Given the description of an element on the screen output the (x, y) to click on. 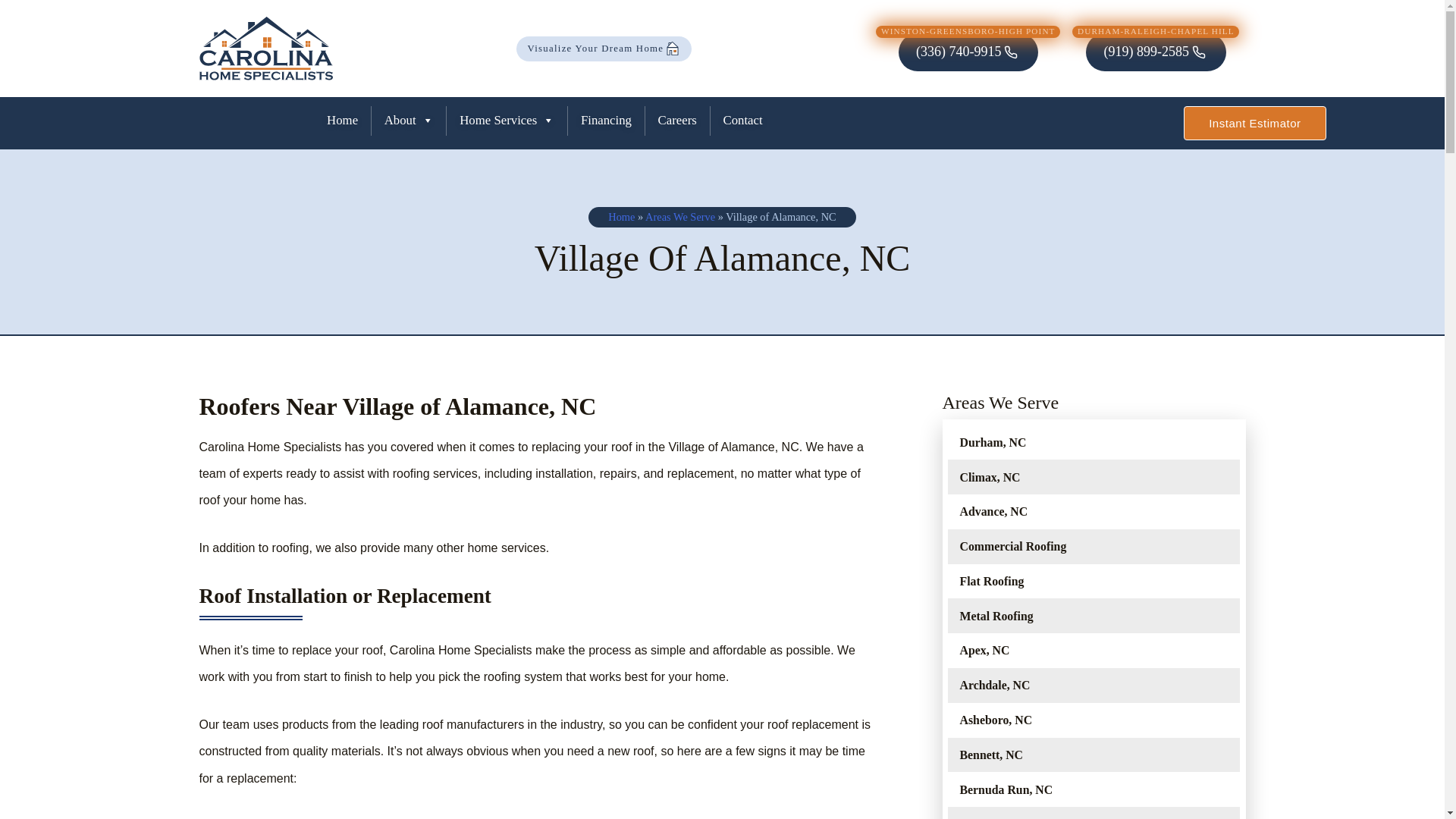
Climax, NC (1093, 476)
About (408, 120)
Commercial Roofing (1093, 546)
Metal Roofing (1093, 615)
Home Visualizer Tool (603, 48)
Advance, NC (1093, 511)
Archdale, NC (1093, 685)
Durham, NC (1093, 442)
Apex, NC (1093, 650)
Home Services (506, 120)
Asheboro, NC (1093, 719)
Areas We Serve (1093, 403)
Flat Roofing (1093, 581)
Home (342, 120)
Visualize Your Dream Home (603, 48)
